Given the description of an element on the screen output the (x, y) to click on. 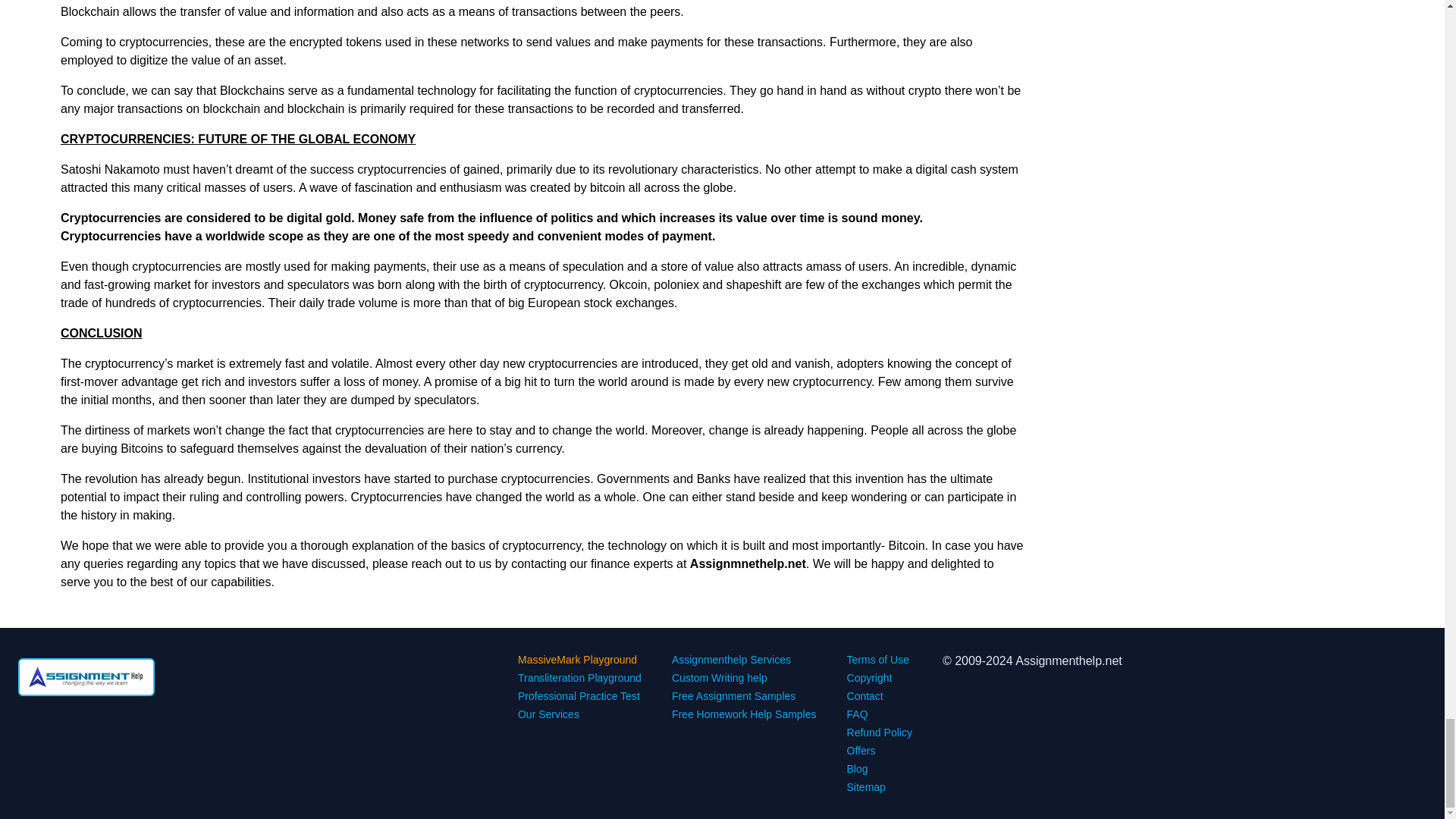
Refund Policy (879, 732)
Professional Practice Test (579, 695)
Free Homework Help Samples (743, 714)
Copyright (869, 677)
Offers (861, 750)
Terms of Use (877, 659)
MassiveMark Playground (577, 659)
Sitemap (866, 787)
Blog (857, 768)
FAQ (857, 714)
Assignmenthelp Services (730, 659)
Free Assignment Samples (732, 695)
Our Services (548, 714)
Custom Writing help (719, 677)
Contact (865, 695)
